Given the description of an element on the screen output the (x, y) to click on. 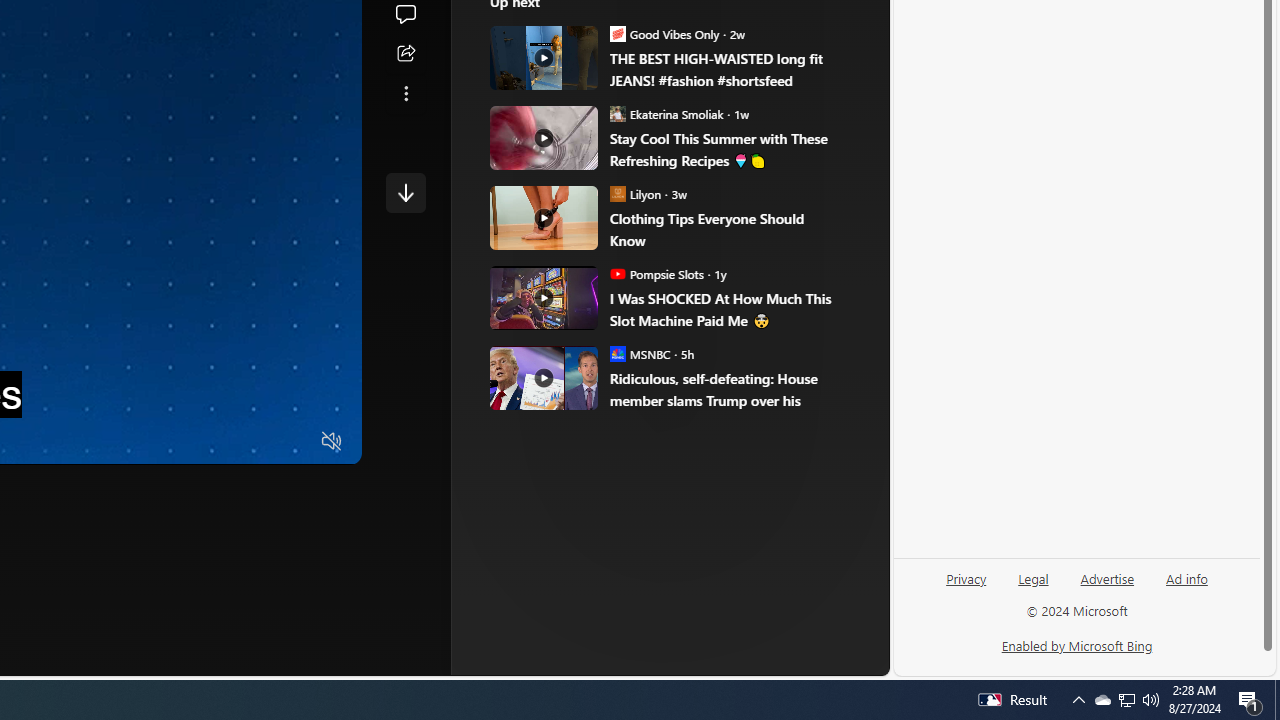
MSNBC (617, 354)
Feedback (814, 659)
ABC News (584, 12)
